Given the description of an element on the screen output the (x, y) to click on. 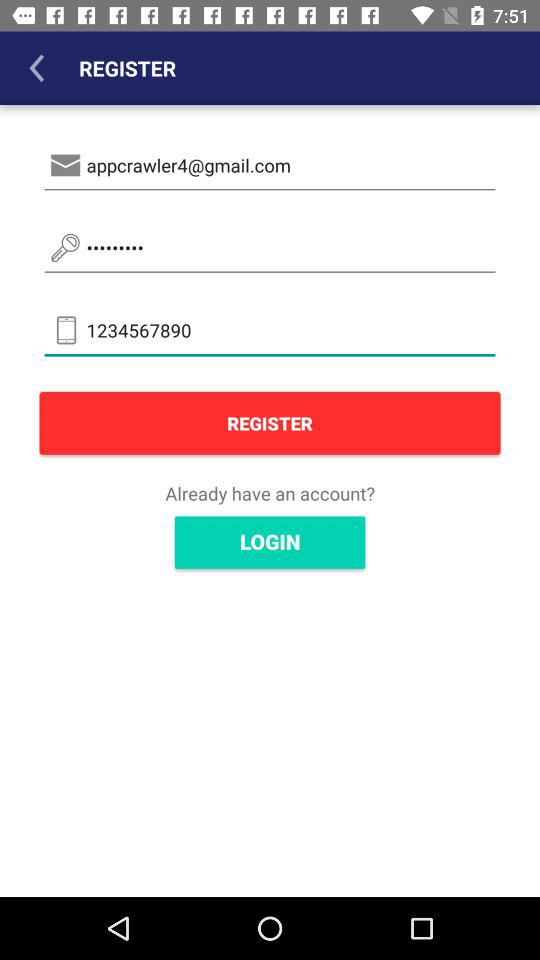
jump until the login item (269, 542)
